Given the description of an element on the screen output the (x, y) to click on. 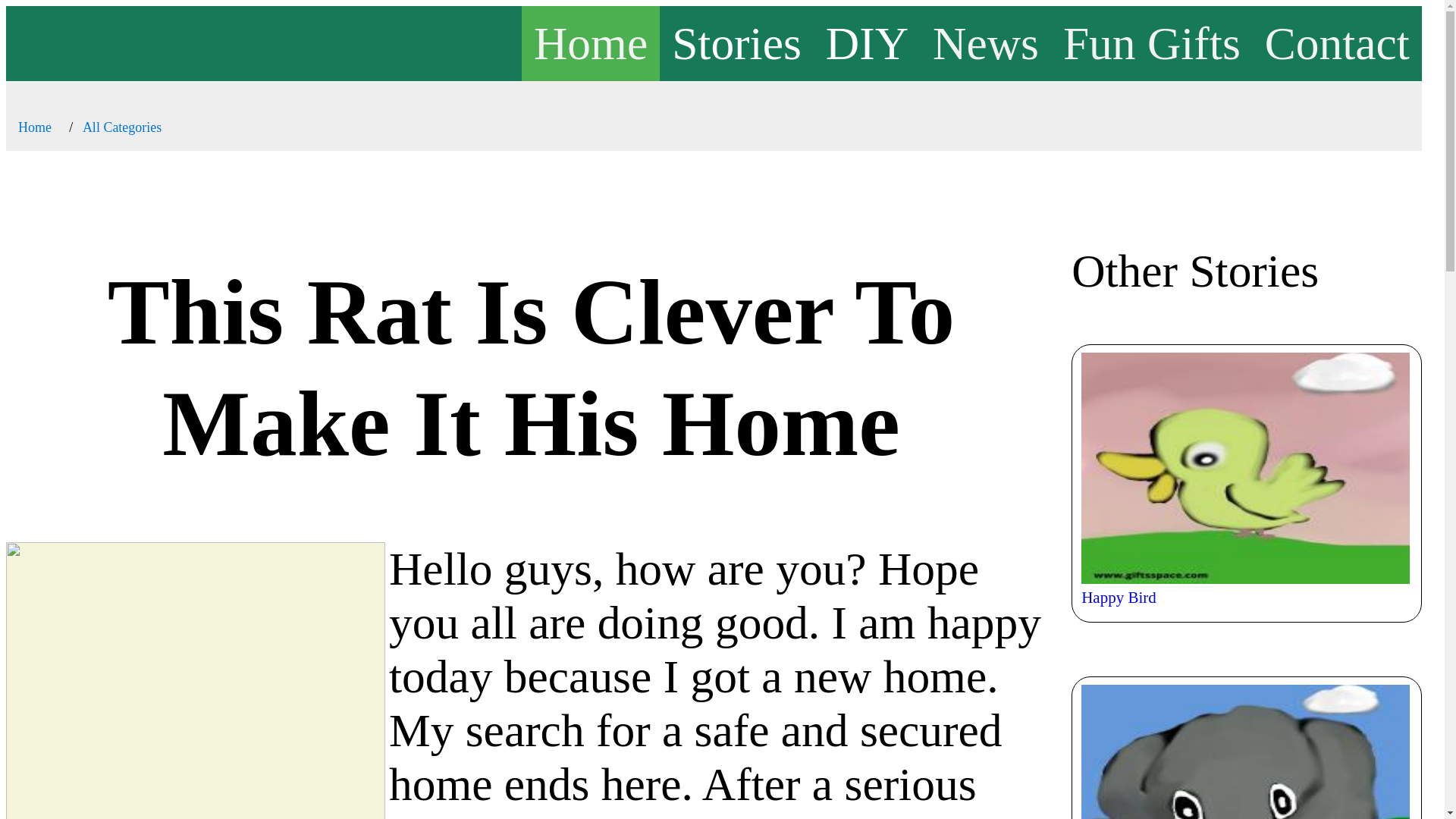
News (985, 43)
All Categories (121, 127)
Fun Gifts (1151, 43)
DIY (866, 43)
Home (33, 127)
Stories (736, 43)
Home (590, 43)
